Given the description of an element on the screen output the (x, y) to click on. 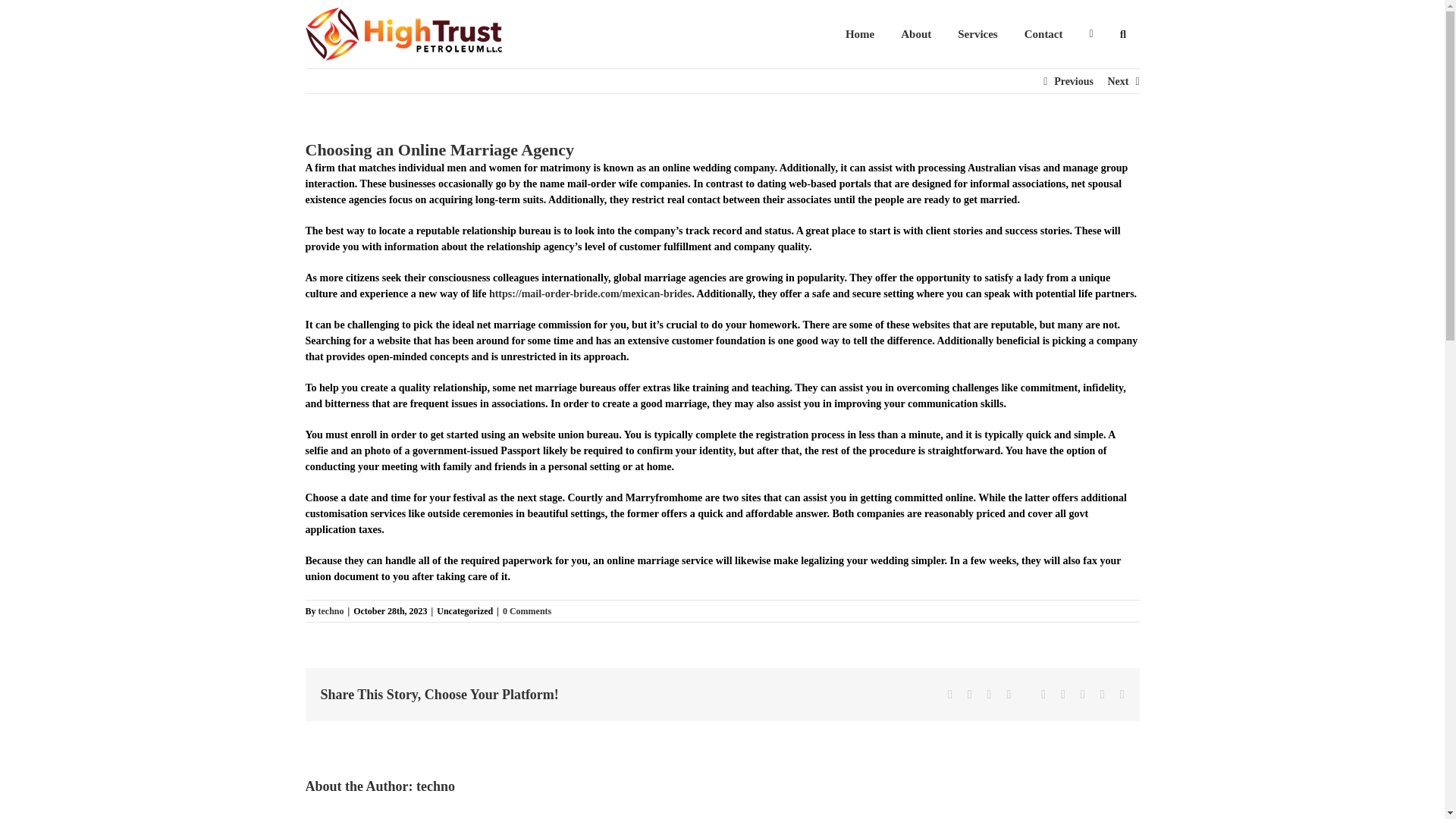
Posts by techno (330, 611)
Contact (1042, 33)
Posts by techno (435, 785)
techno (330, 611)
techno (435, 785)
Previous (1073, 81)
Services (977, 33)
0 Comments (526, 611)
